Given the description of an element on the screen output the (x, y) to click on. 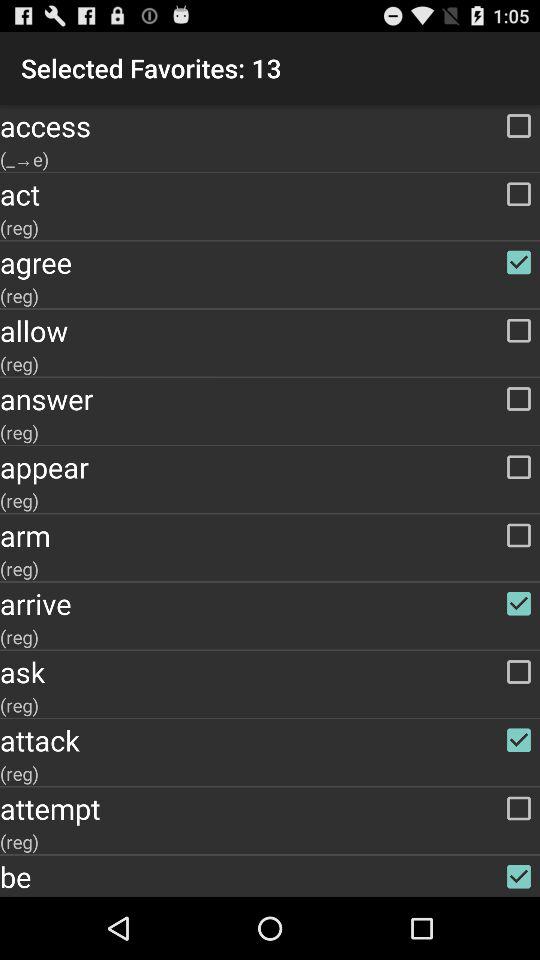
turn on attempt item (270, 808)
